Given the description of an element on the screen output the (x, y) to click on. 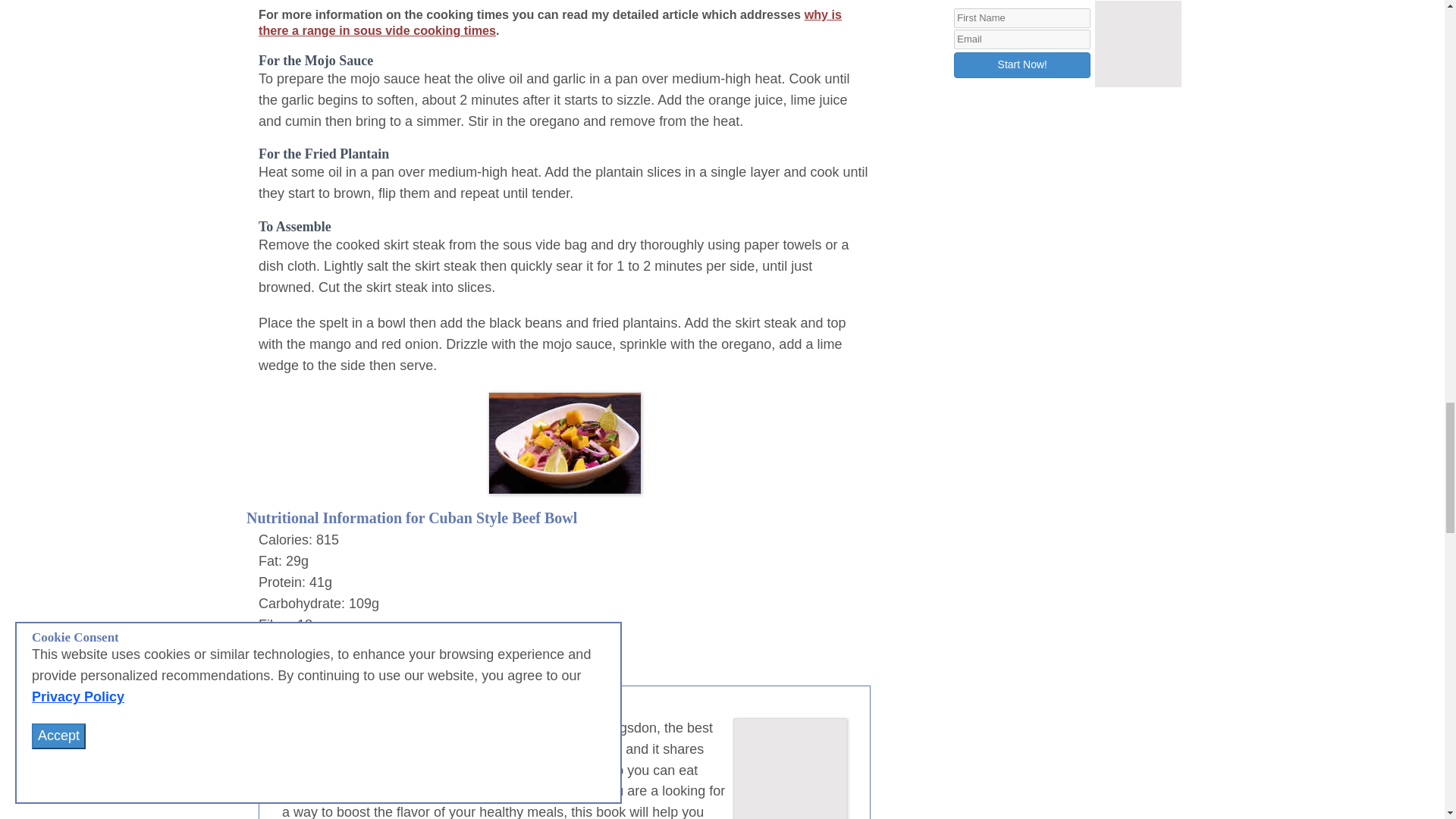
Start Now! (1021, 64)
Sous vide book cover large (790, 768)
Sous vide skirt steak cuban bowl (564, 443)
